Given the description of an element on the screen output the (x, y) to click on. 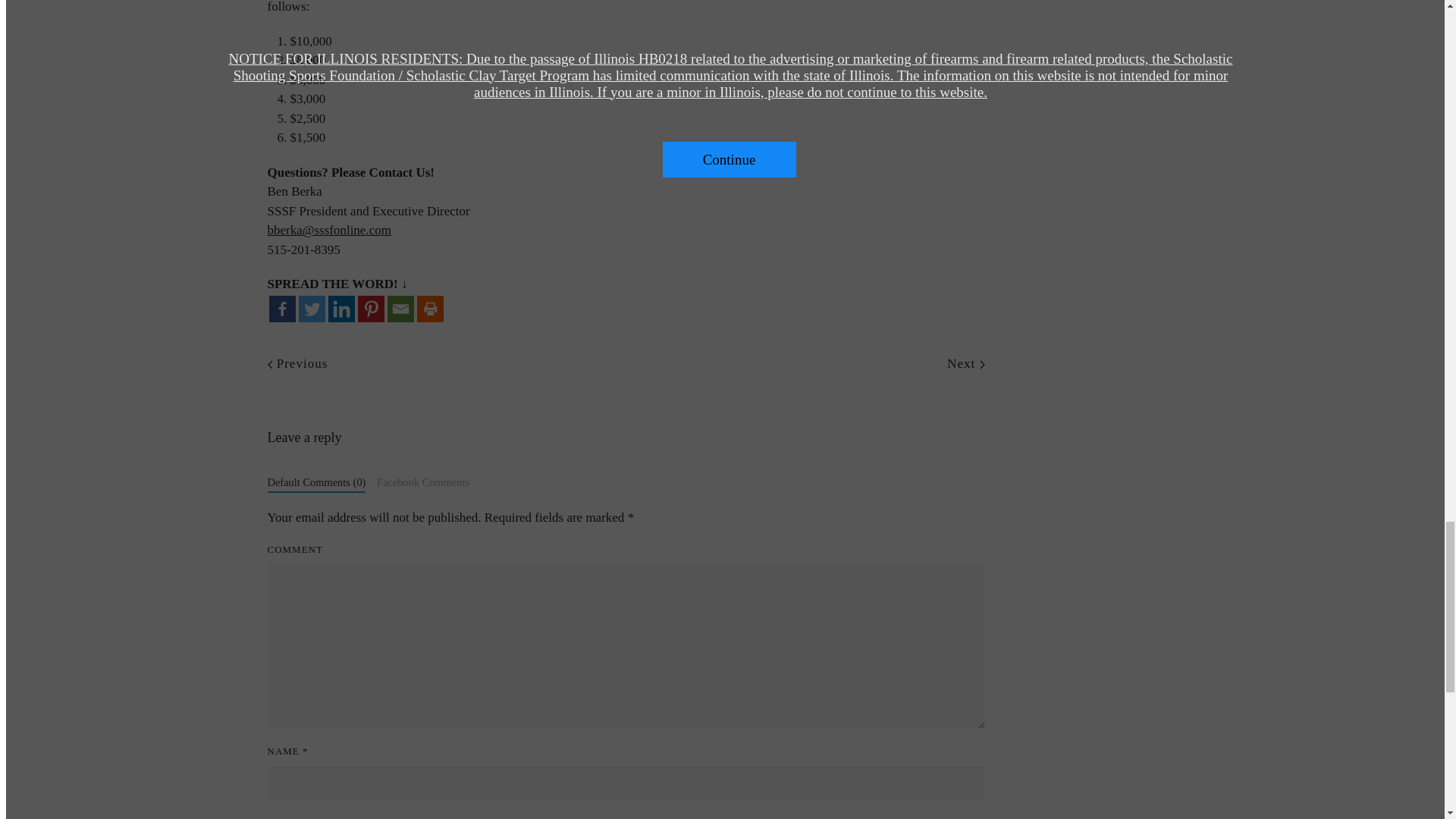
Facebook (281, 308)
Email (400, 308)
Pinterest (371, 308)
Print (430, 308)
Twitter (311, 308)
Linkedin (340, 308)
